Given the description of an element on the screen output the (x, y) to click on. 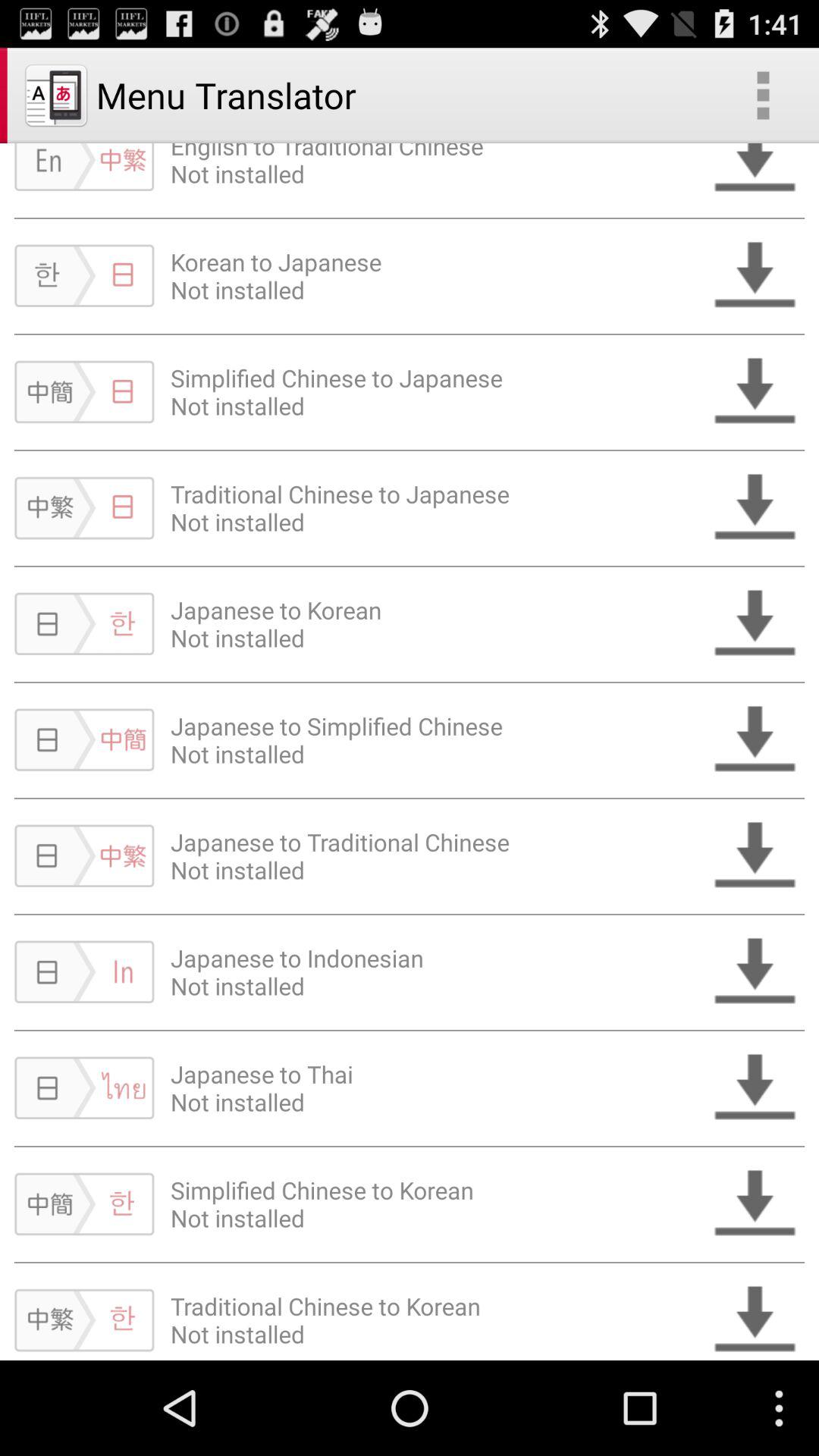
click app to the right of english to traditional (763, 95)
